Given the description of an element on the screen output the (x, y) to click on. 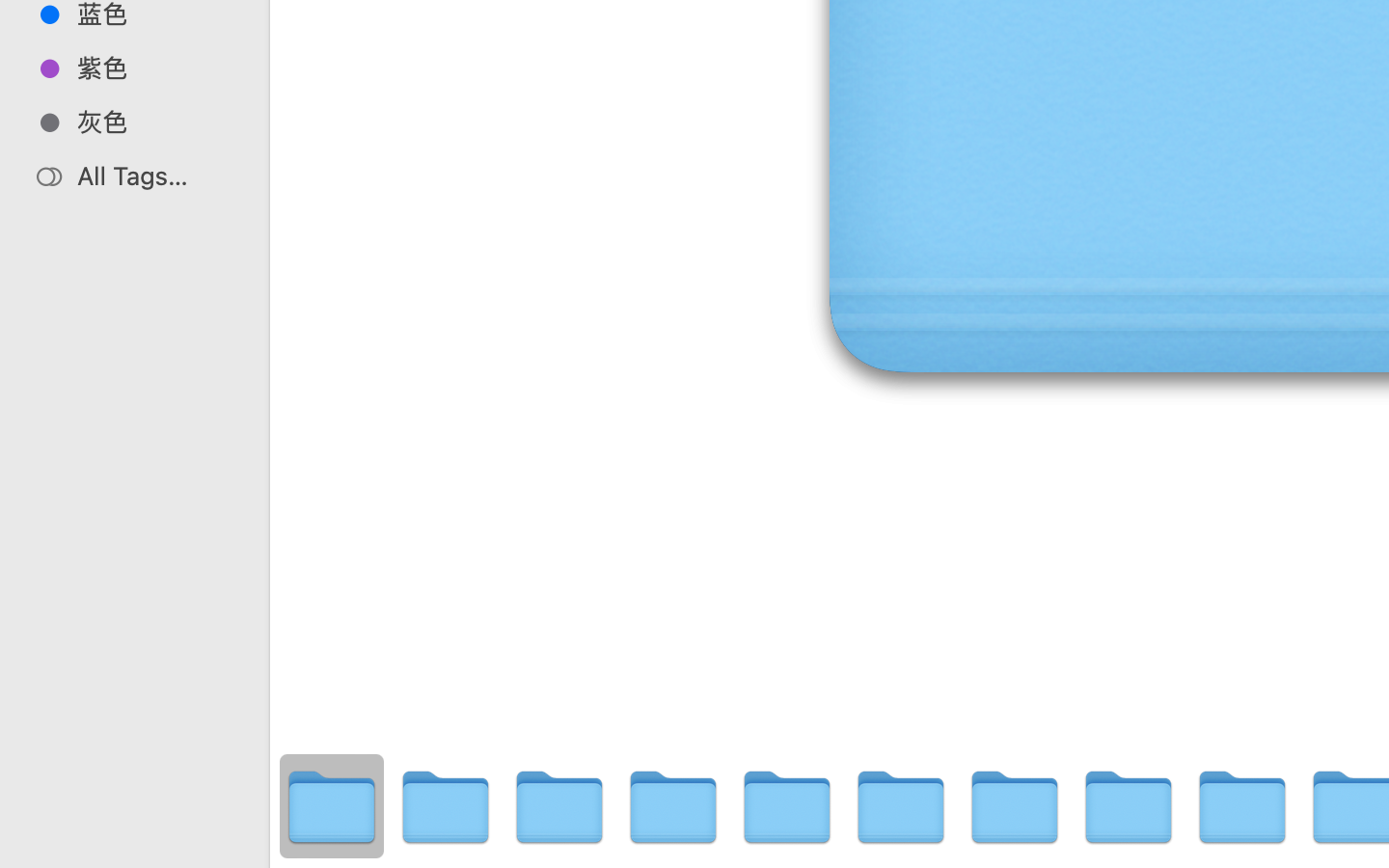
Tags… Element type: AXStaticText (41, 852)
